Given the description of an element on the screen output the (x, y) to click on. 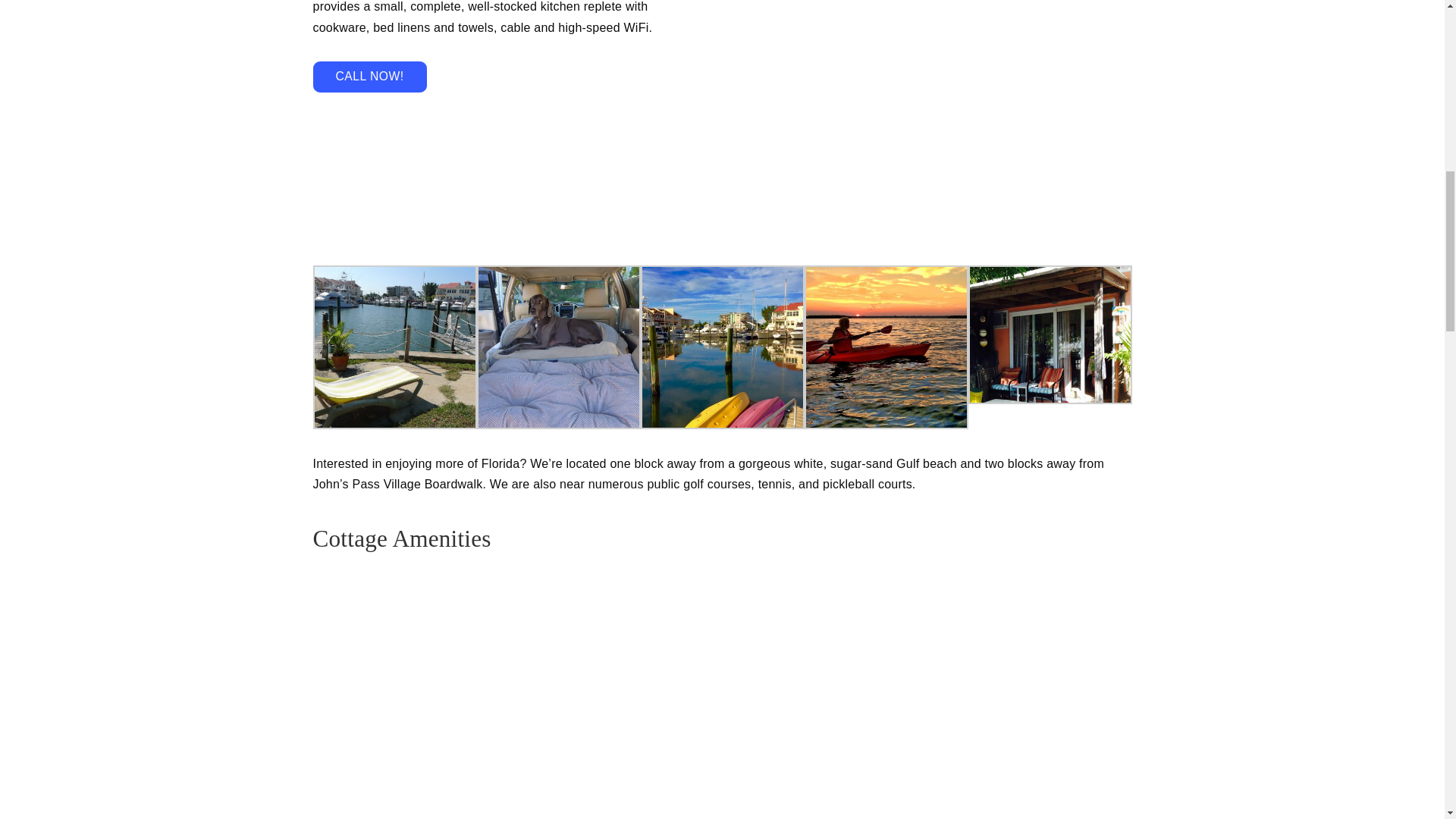
CALL NOW! (369, 76)
